Given the description of an element on the screen output the (x, y) to click on. 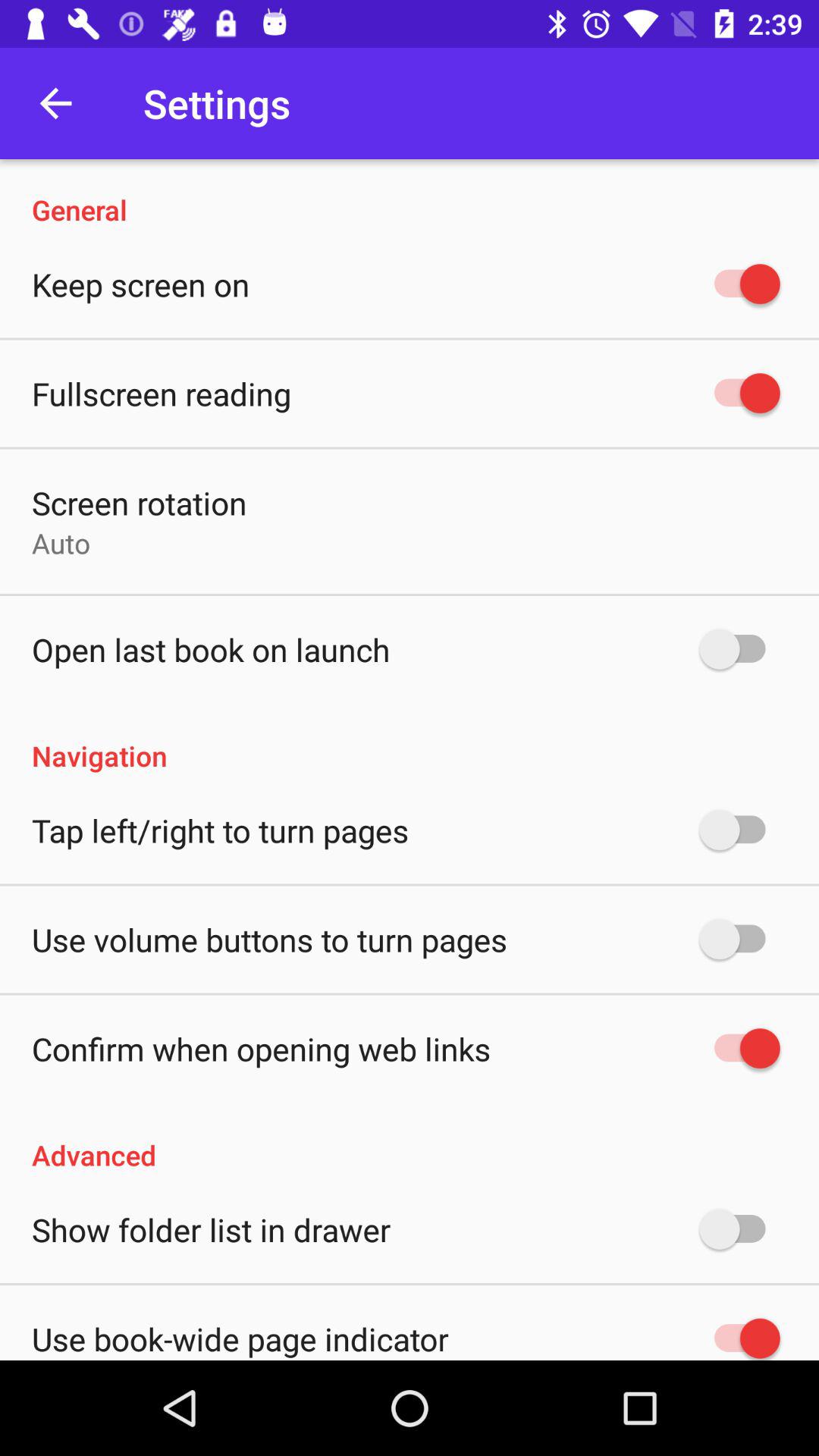
press icon above the use volume buttons icon (219, 829)
